Given the description of an element on the screen output the (x, y) to click on. 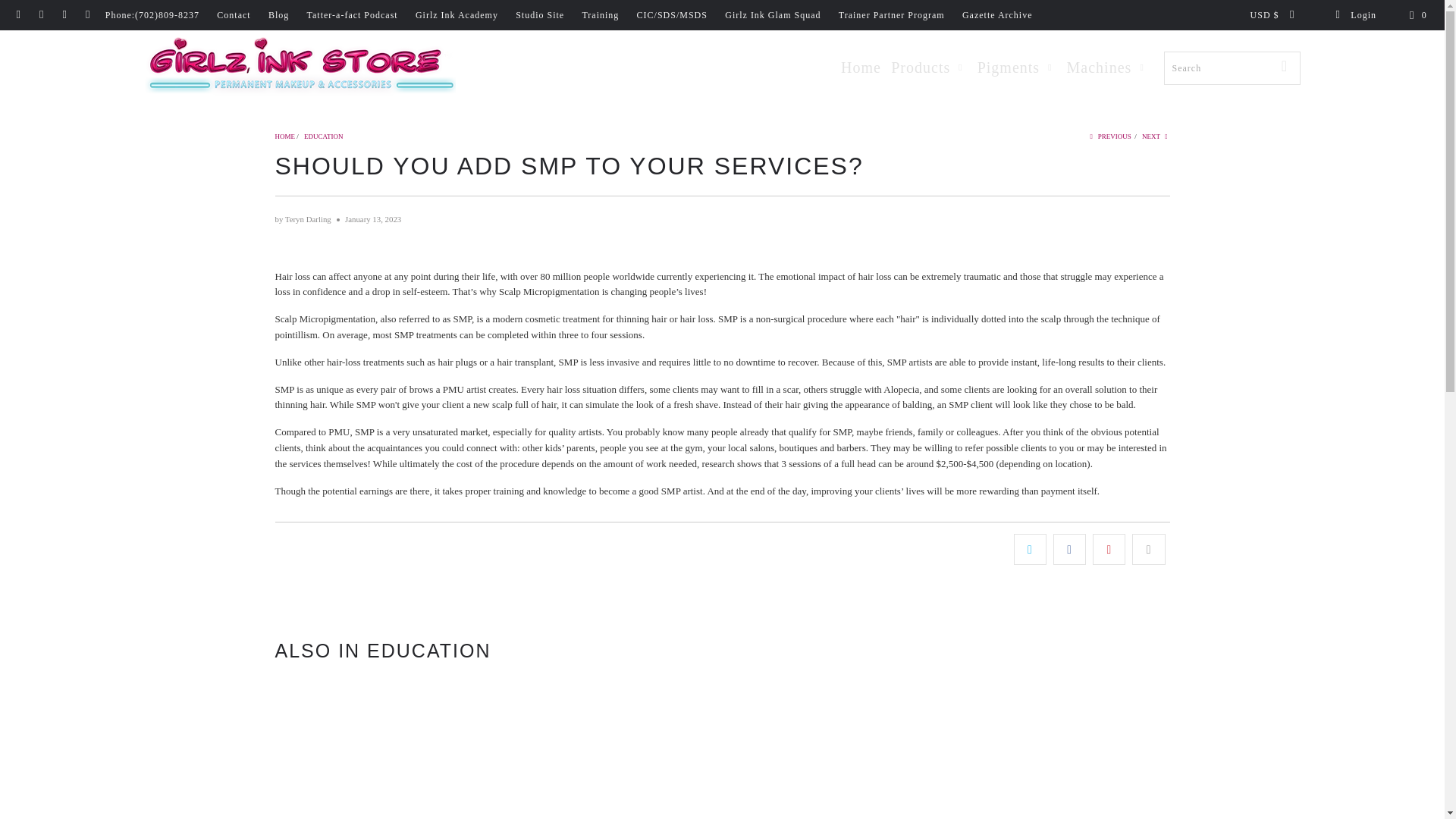
GirlzInk Store (299, 68)
GirlzInk Store (285, 136)
Email this to a friend (1148, 549)
Education (323, 136)
GirlzInk Store on Instagram (63, 14)
GirlzInk Store on Facebook (17, 14)
Share this on Pinterest (1109, 549)
Share this on Twitter (1029, 549)
Email GirlzInk Store (86, 14)
Meet the New Labels: "GLOBAL" and "ORIGINAL" (418, 747)
GirlzInk Store on YouTube (41, 14)
My Account  (1355, 15)
Share this on Facebook (1069, 549)
